Given the description of an element on the screen output the (x, y) to click on. 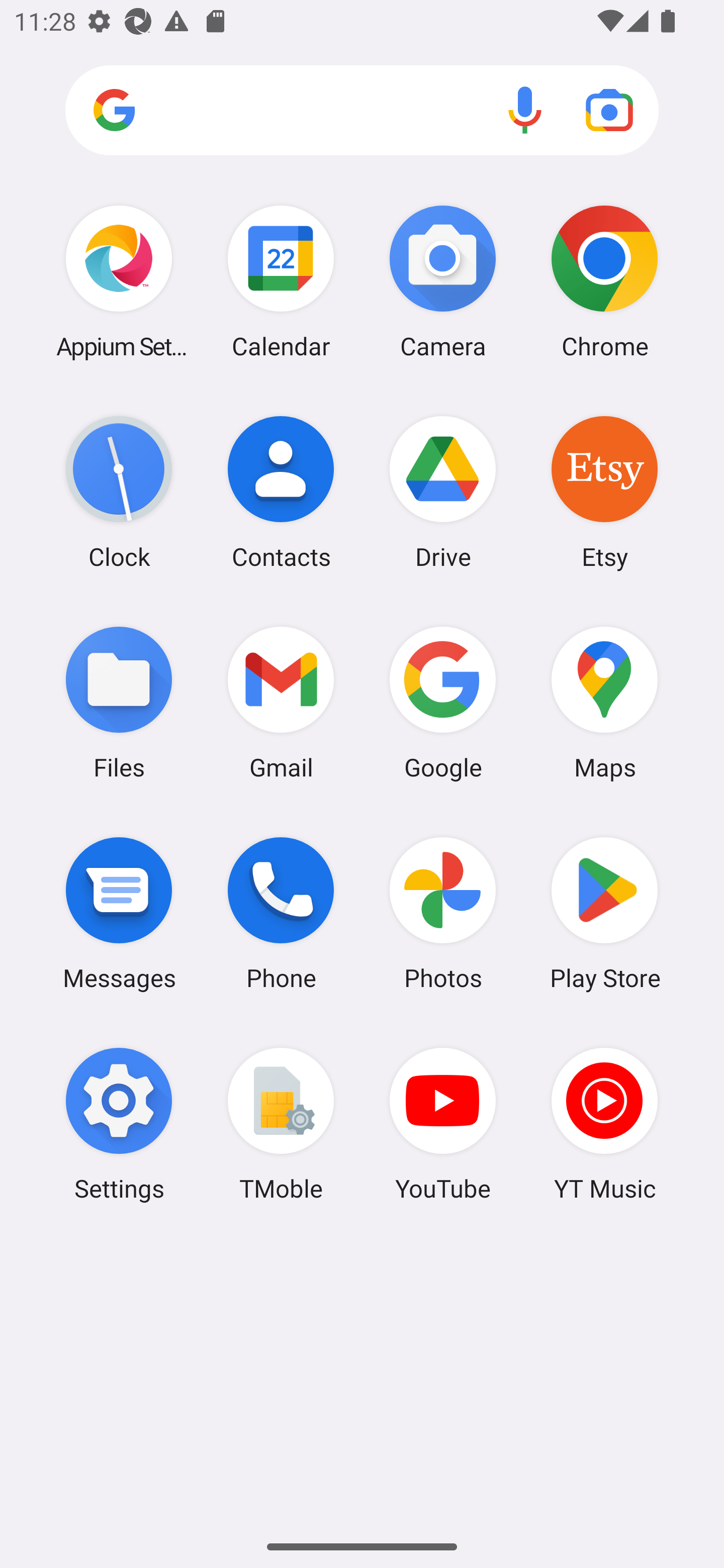
Search apps, web and more (361, 110)
Voice search (524, 109)
Google Lens (608, 109)
Appium Settings (118, 281)
Calendar (280, 281)
Camera (443, 281)
Chrome (604, 281)
Clock (118, 492)
Contacts (280, 492)
Drive (443, 492)
Etsy (604, 492)
Files (118, 702)
Gmail (280, 702)
Google (443, 702)
Maps (604, 702)
Messages (118, 913)
Phone (280, 913)
Photos (443, 913)
Play Store (604, 913)
Settings (118, 1124)
TMoble (280, 1124)
YouTube (443, 1124)
YT Music (604, 1124)
